Given the description of an element on the screen output the (x, y) to click on. 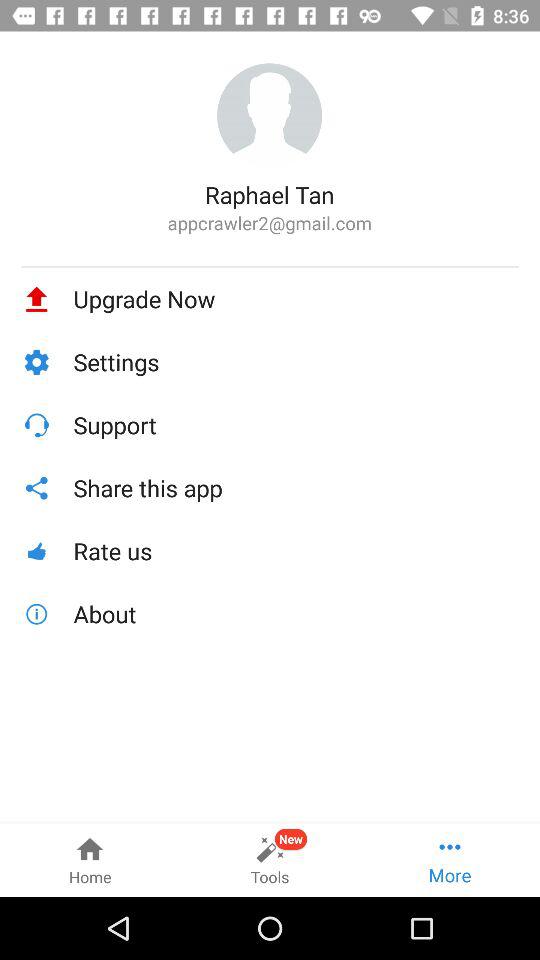
turn off the icon above appcrawler2@gmail.com icon (269, 194)
